Given the description of an element on the screen output the (x, y) to click on. 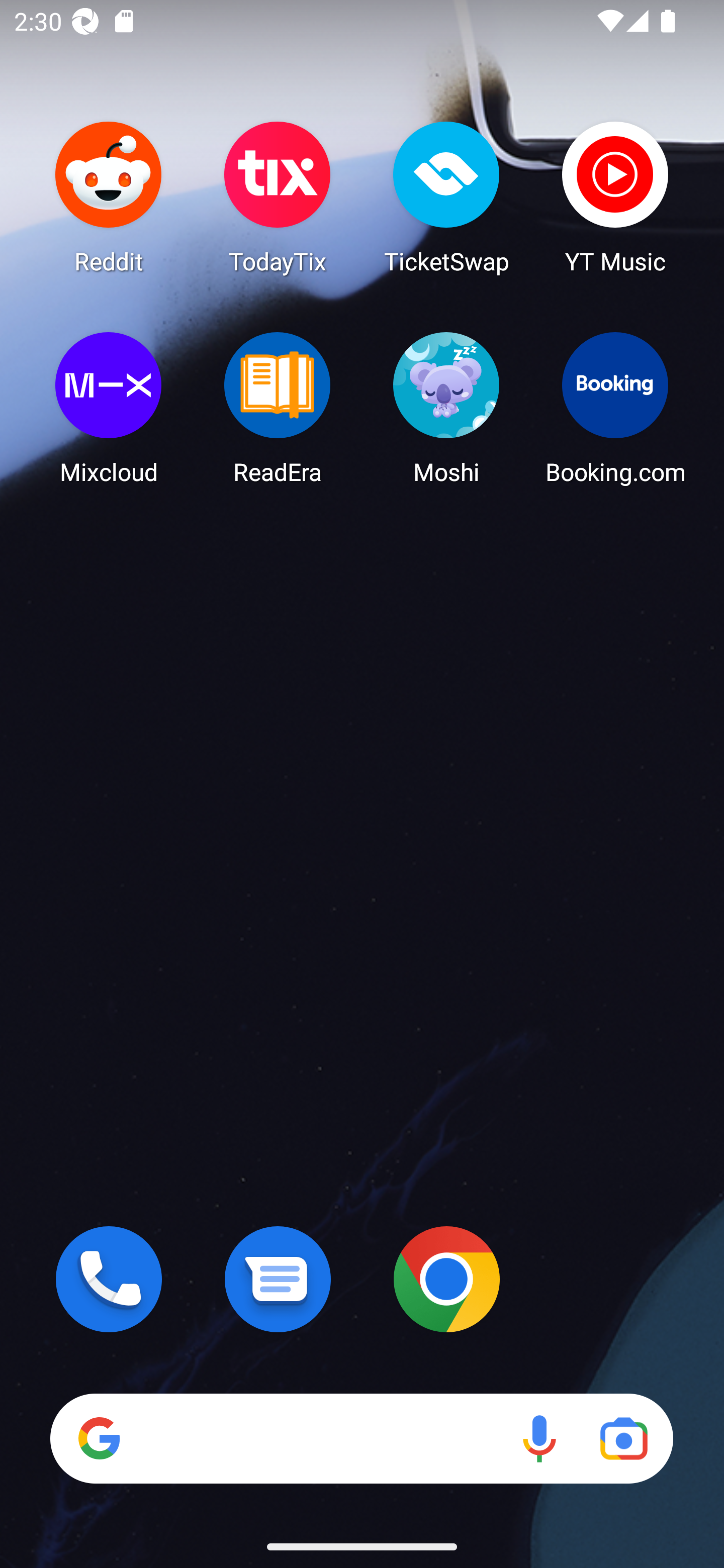
Reddit (108, 196)
TodayTix (277, 196)
TicketSwap (445, 196)
YT Music (615, 196)
Mixcloud (108, 407)
ReadEra (277, 407)
Moshi (445, 407)
Booking.com (615, 407)
Phone (108, 1279)
Messages (277, 1279)
Chrome (446, 1279)
Search Voice search Google Lens (361, 1438)
Voice search (539, 1438)
Google Lens (623, 1438)
